Given the description of an element on the screen output the (x, y) to click on. 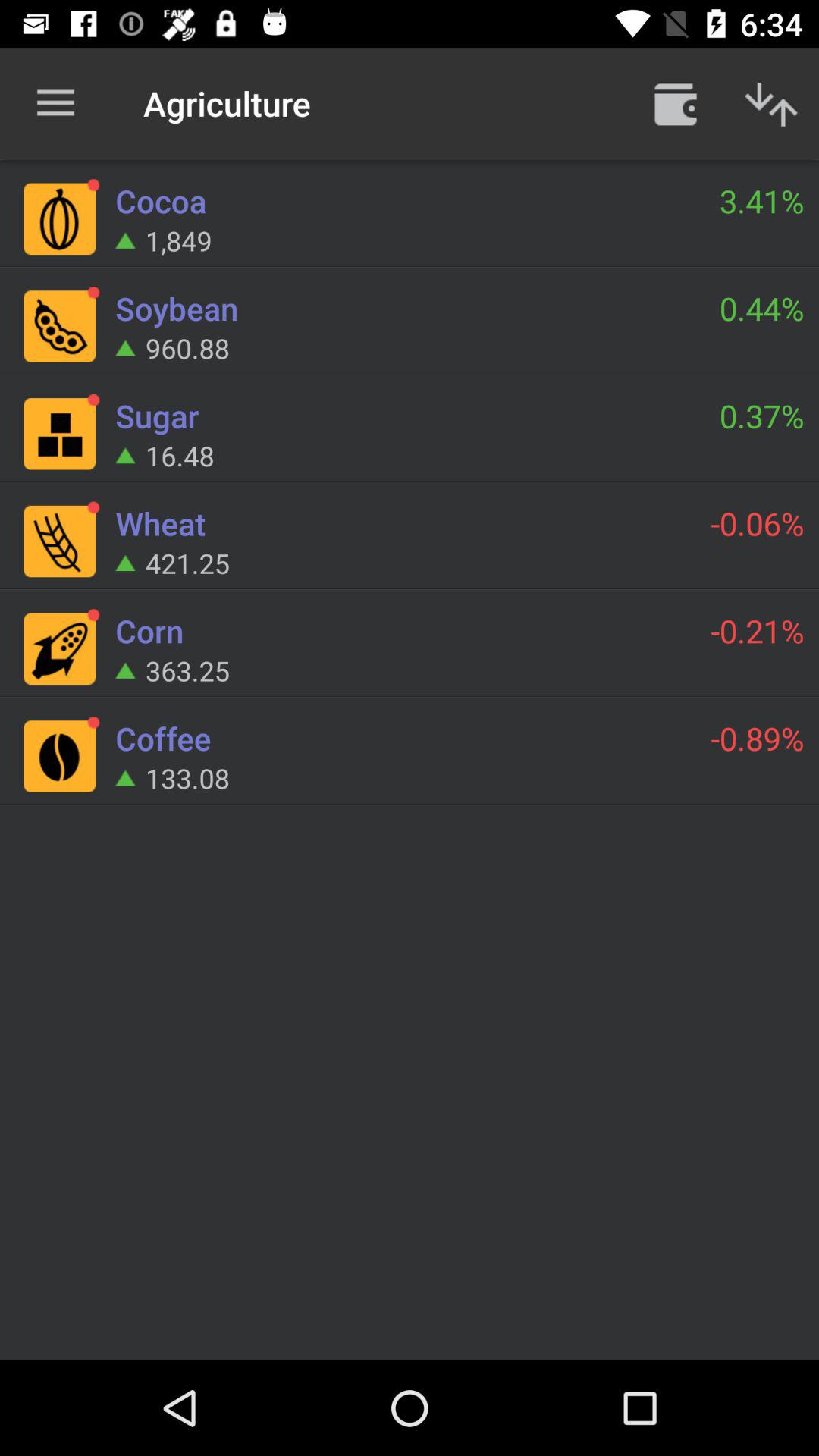
press the app next to agriculture item (675, 103)
